Given the description of an element on the screen output the (x, y) to click on. 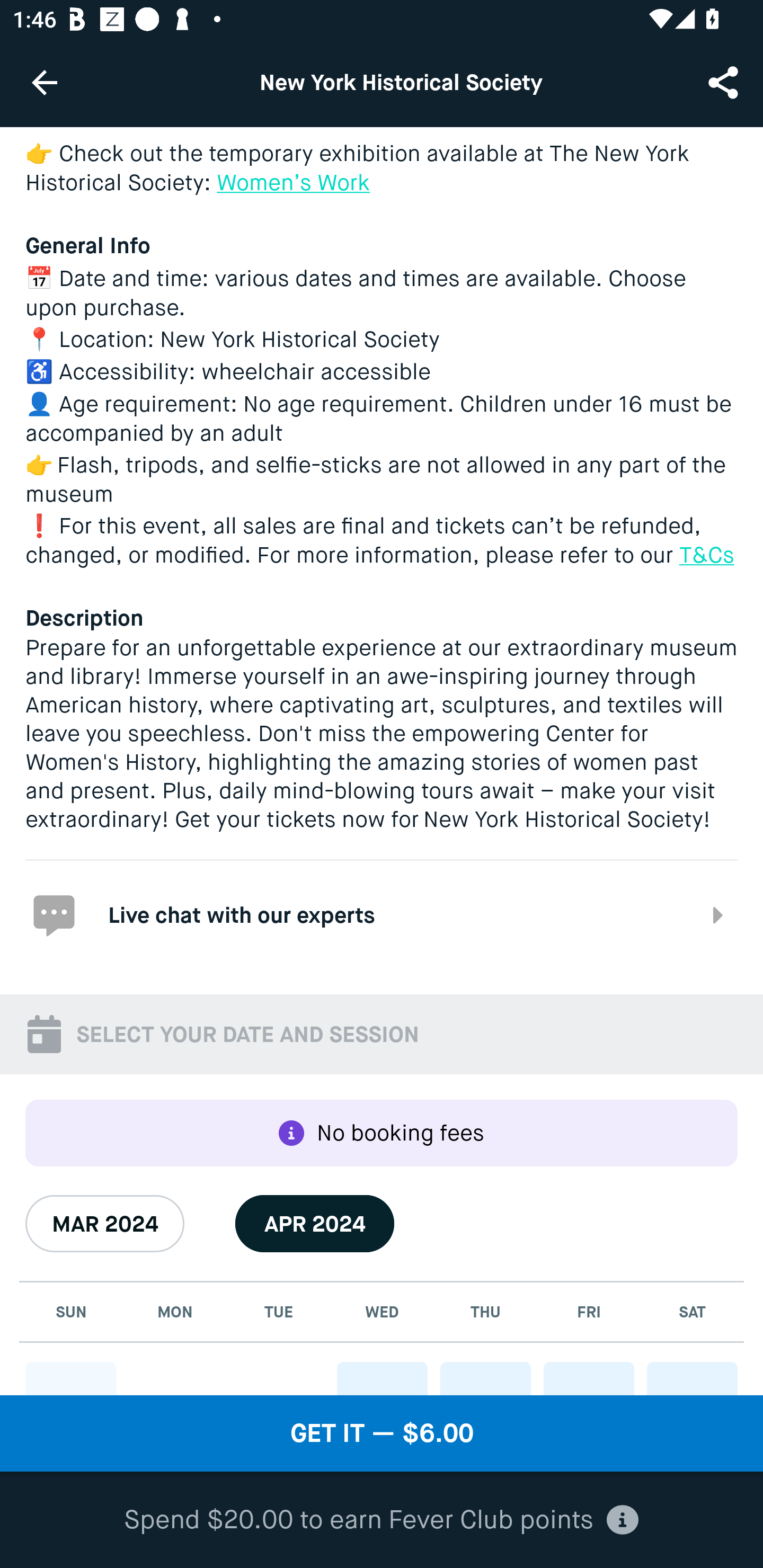
Navigate up (44, 82)
Share (724, 81)
Live chat with our experts (381, 914)
MAR 2024 (104, 1223)
APR 2024 (314, 1223)
GET IT — $6.00 (381, 1433)
Spend $20.00 to earn Fever Club points (381, 1519)
